Given the description of an element on the screen output the (x, y) to click on. 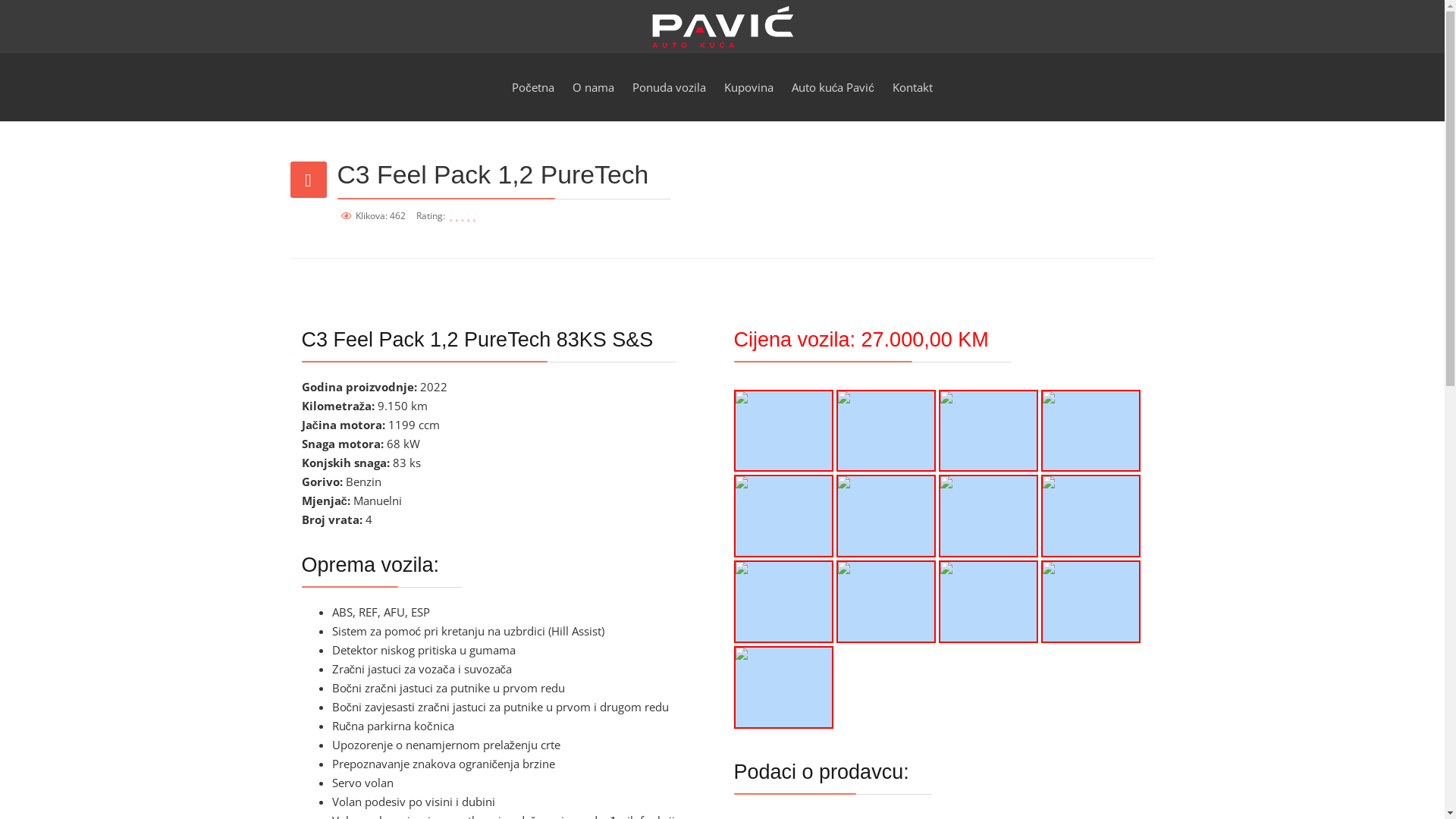
Click to enlarge image 11.jpg Element type: hover (988, 601)
Click to enlarge image 08.jpg Element type: hover (1089, 515)
Click to enlarge image 04.jpg Element type: hover (1089, 430)
Click to enlarge image 13.jpg Element type: hover (783, 687)
Click to enlarge image 12.jpg Element type: hover (1089, 601)
Click to enlarge image 07.jpg Element type: hover (988, 515)
Click to enlarge image 10.jpg Element type: hover (885, 601)
Kontakt Element type: text (912, 87)
Click to enlarge image 02.jpg Element type: hover (885, 430)
Ponuda vozila Element type: text (669, 87)
Kupovina Element type: text (748, 87)
O nama Element type: text (593, 87)
Click to enlarge image 03.jpg Element type: hover (988, 430)
Click to enlarge image 06.jpg Element type: hover (885, 515)
Click to enlarge image 09.jpg Element type: hover (783, 601)
Click to enlarge image 05.jpg Element type: hover (783, 515)
Click to enlarge image 01.jpg Element type: hover (783, 430)
